Given the description of an element on the screen output the (x, y) to click on. 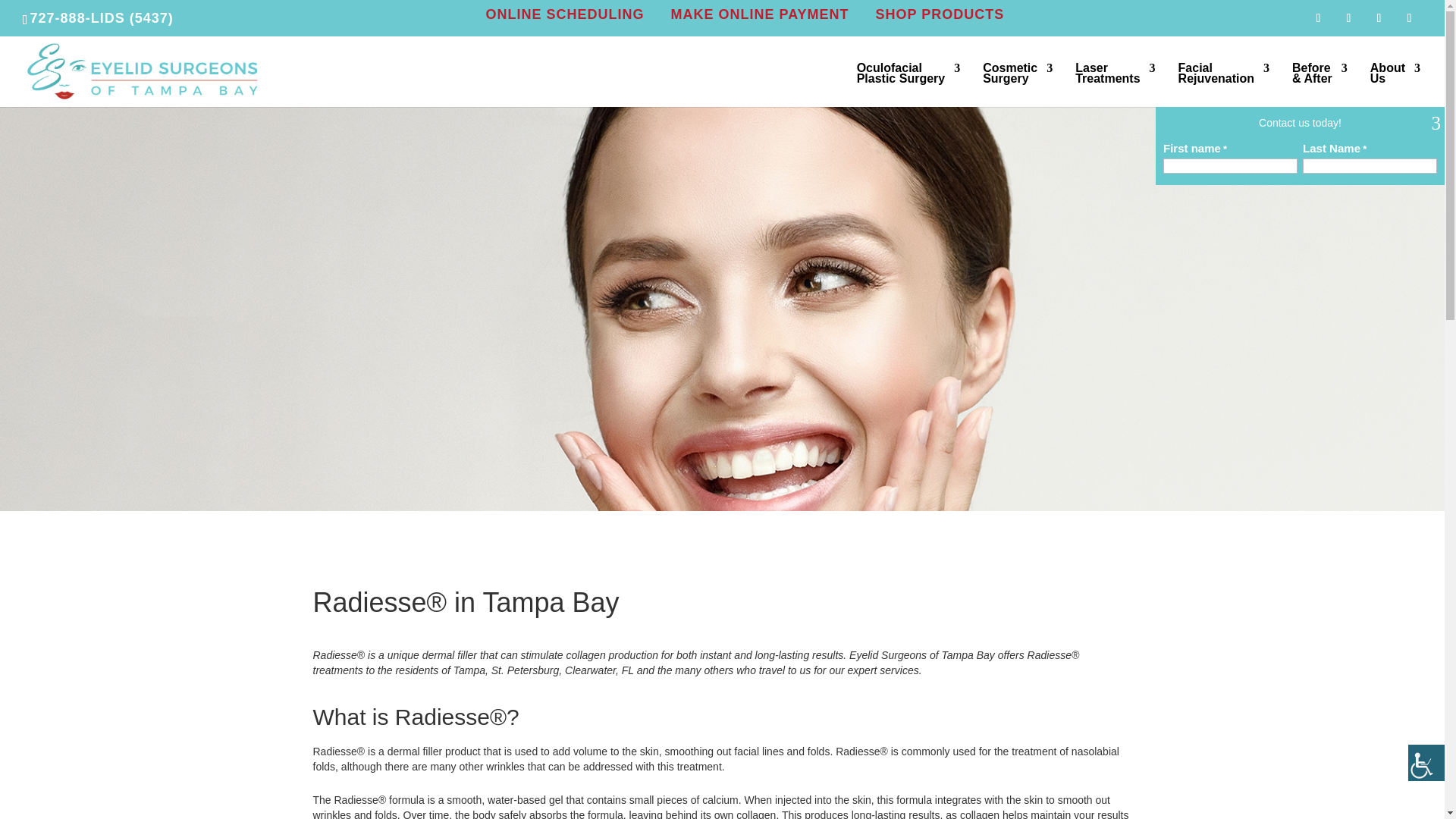
MAKE ONLINE PAYMENT (908, 85)
SHOP PRODUCTS (758, 14)
ONLINE SCHEDULING (939, 14)
